Given the description of an element on the screen output the (x, y) to click on. 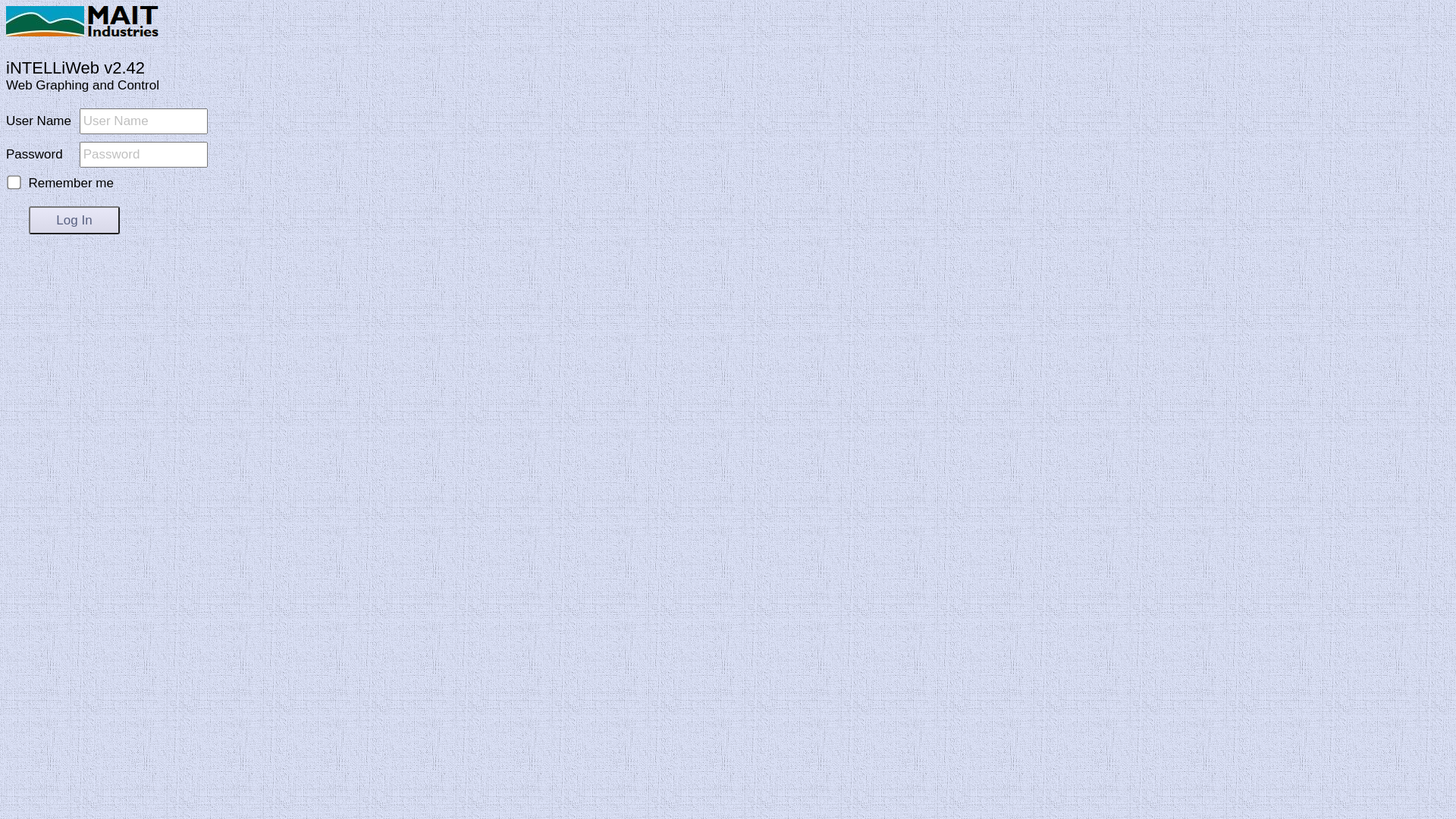
MAIT Text Element type: hover (122, 21)
MAIT Logo Element type: hover (45, 21)
Log In Element type: text (73, 220)
